Given the description of an element on the screen output the (x, y) to click on. 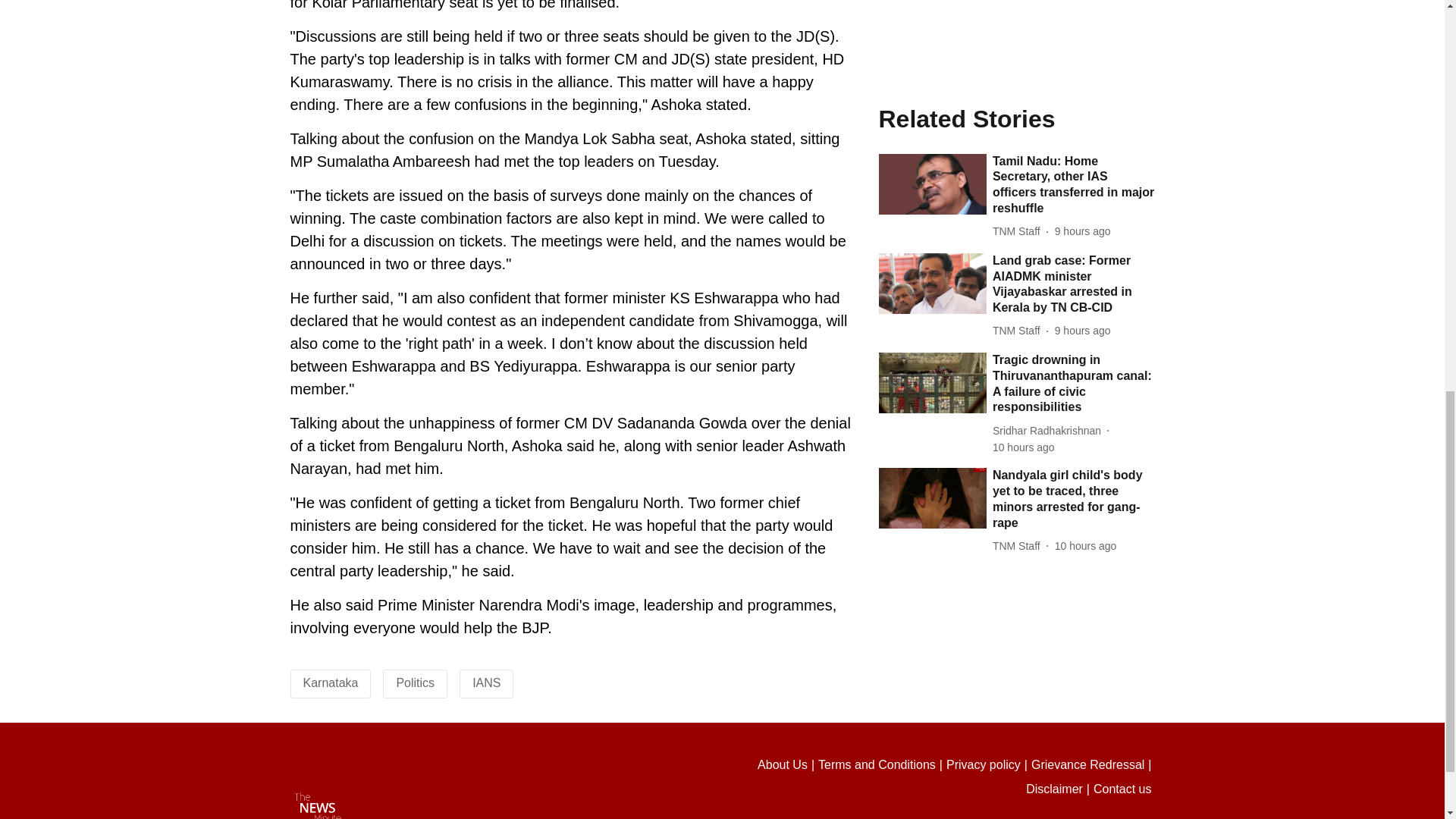
Karnataka (330, 682)
About Us (787, 764)
IANS (485, 682)
Politics (414, 682)
